Given the description of an element on the screen output the (x, y) to click on. 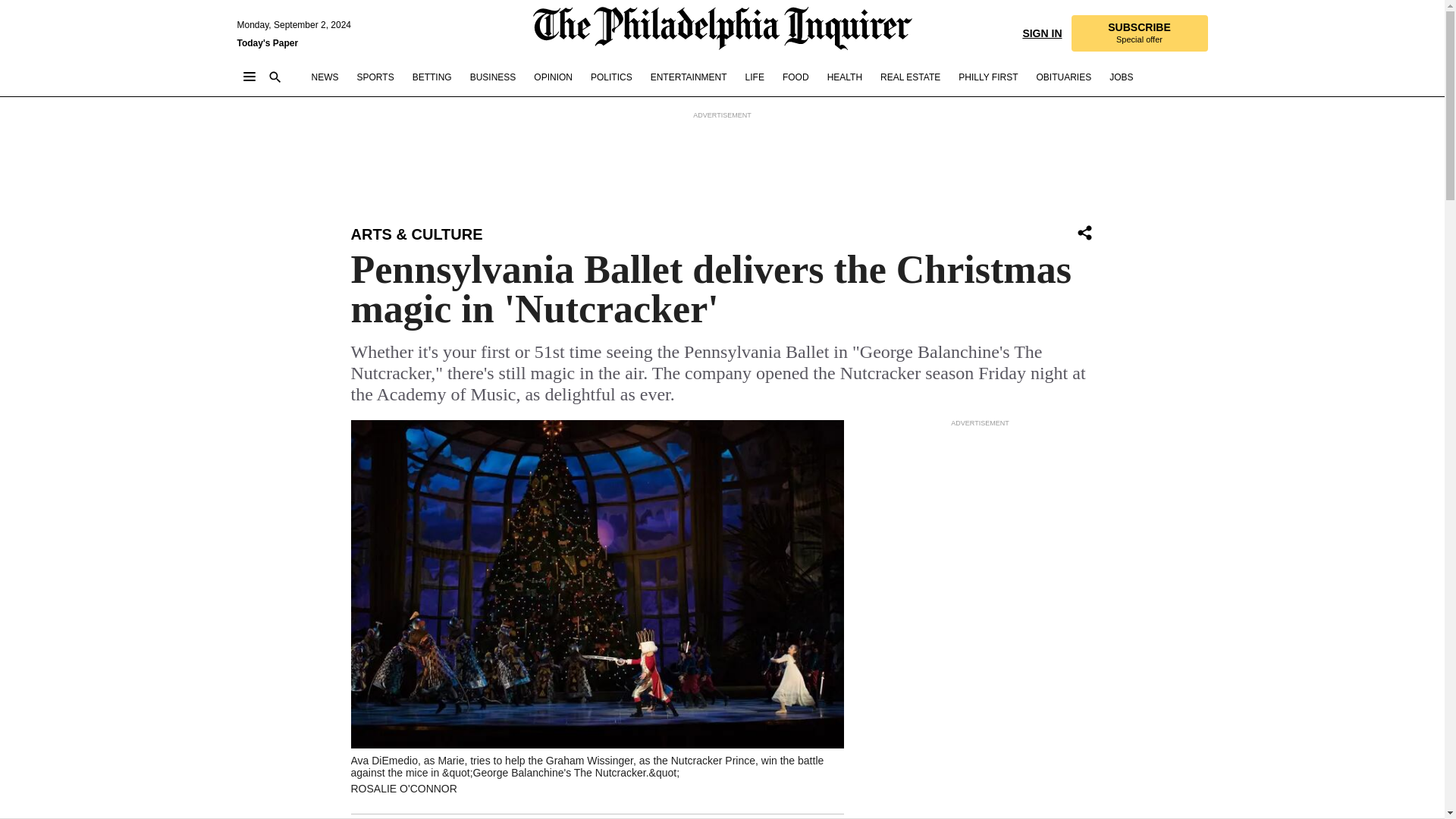
Today's Paper (266, 42)
BUSINESS (493, 77)
PHILLY FIRST (987, 77)
Share Icon (1084, 233)
OBITUARIES (1062, 77)
ENTERTAINMENT (688, 77)
SPORTS (375, 77)
JOBS (1120, 77)
FOOD (796, 77)
REAL ESTATE (910, 77)
